Given the description of an element on the screen output the (x, y) to click on. 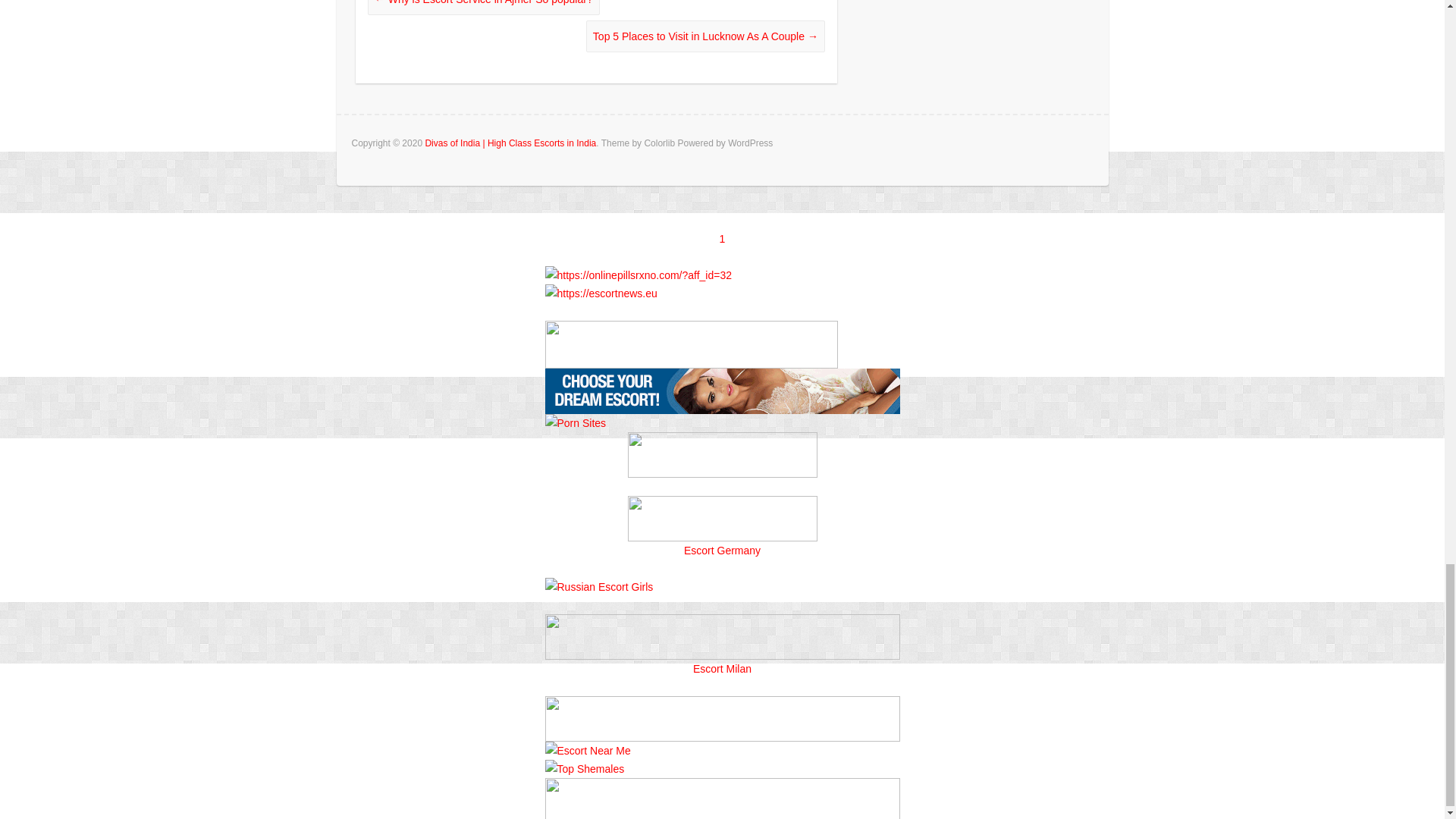
Escort Milan (721, 623)
Escort Milan (721, 669)
Escort Germany (721, 550)
Escort Germany (721, 518)
Porn Sites List (574, 422)
Escort Near Me (587, 750)
Escorts near me (721, 377)
Topescort (721, 705)
1 (721, 239)
Russian escort (598, 586)
